Given the description of an element on the screen output the (x, y) to click on. 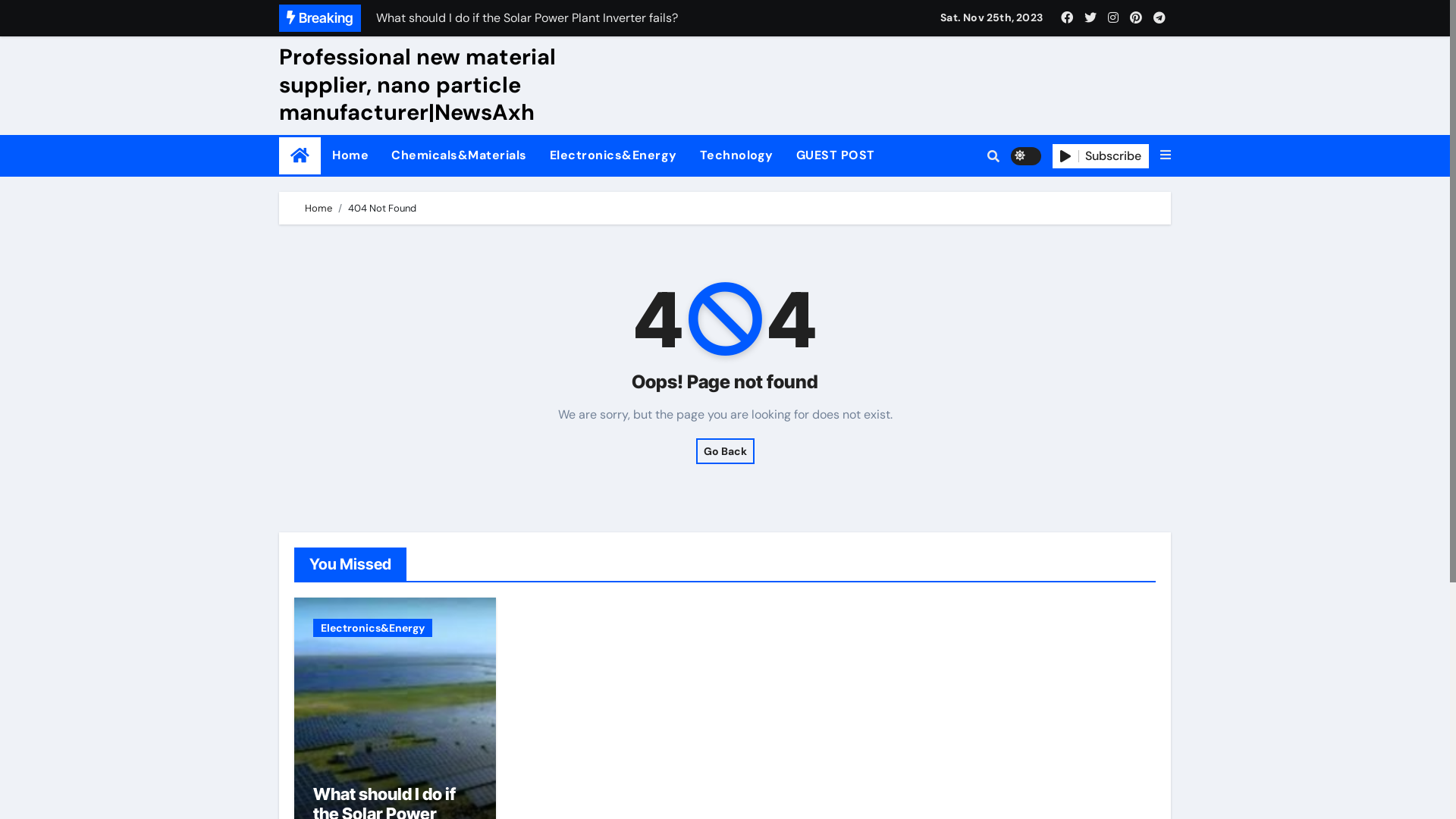
Go Back Element type: text (725, 451)
Home Element type: text (349, 155)
Home Element type: text (318, 207)
Electronics&Energy Element type: text (372, 627)
GUEST POST Element type: text (834, 155)
Chemicals&Materials Element type: text (458, 155)
Electronics&Energy Element type: text (613, 155)
What should I do if the Solar Power Plant Inverter fails? Element type: text (575, 22)
Home Element type: hover (299, 155)
Subscribe Element type: text (1100, 156)
Technology Element type: text (736, 155)
